Given the description of an element on the screen output the (x, y) to click on. 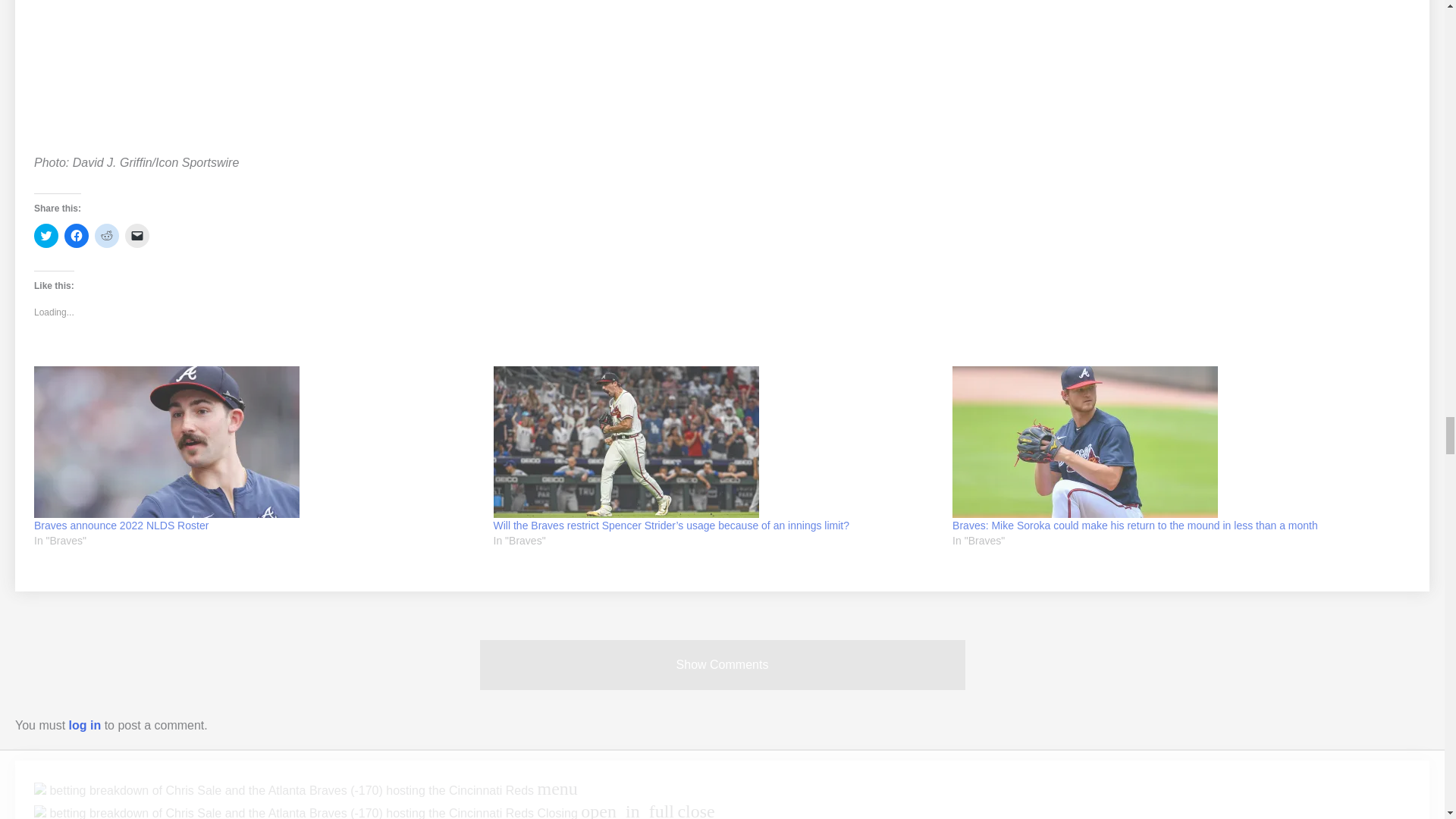
Braves announce 2022 NLDS Roster (120, 525)
Click to share on Twitter (45, 234)
Click to email a link to a friend (137, 234)
Click to share on Facebook (76, 234)
Braves announce 2022 NLDS Roster (256, 441)
Click to share on Reddit (106, 234)
